Given the description of an element on the screen output the (x, y) to click on. 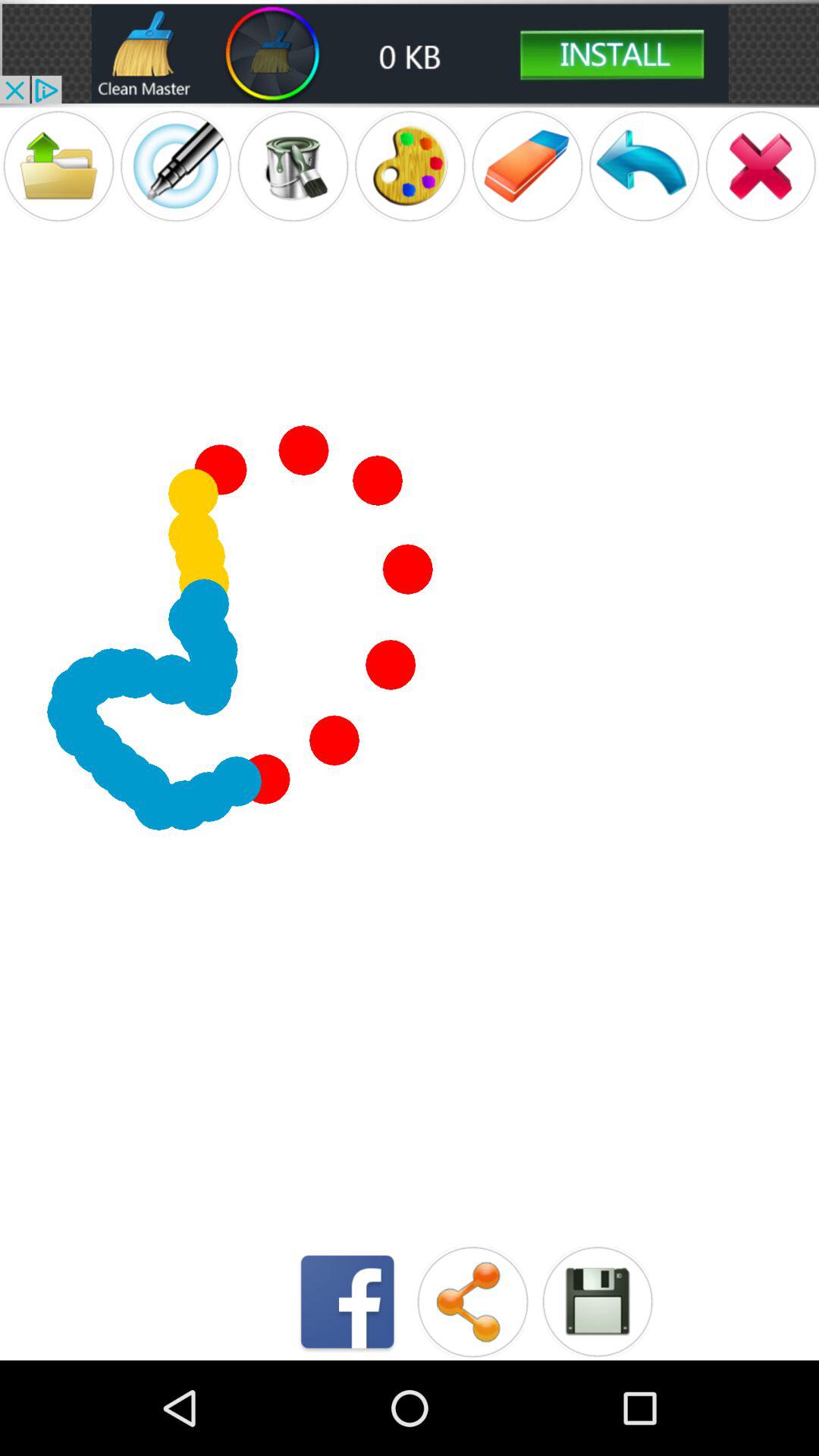
go to facebook (347, 1301)
